Given the description of an element on the screen output the (x, y) to click on. 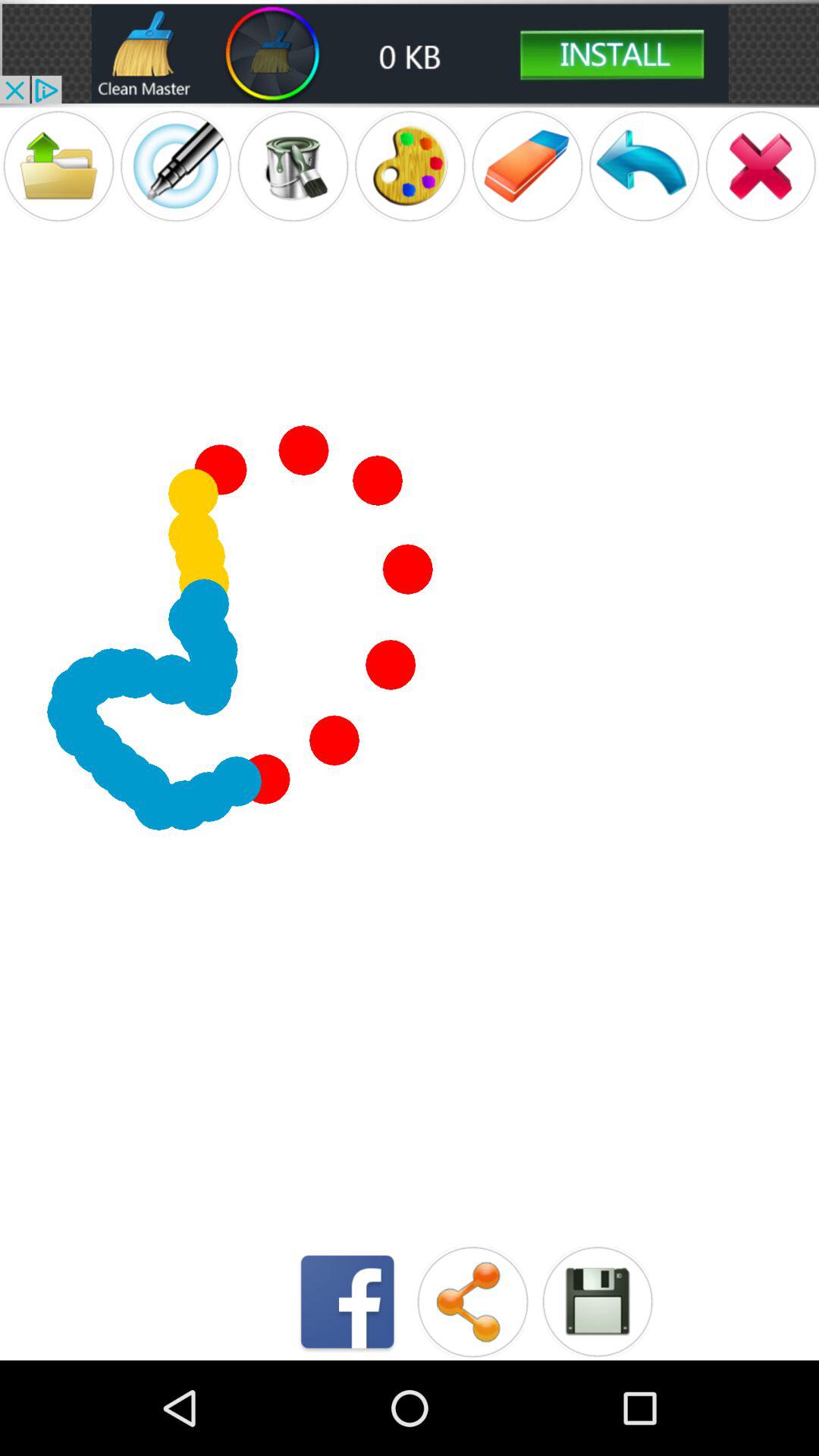
go to facebook (347, 1301)
